Given the description of an element on the screen output the (x, y) to click on. 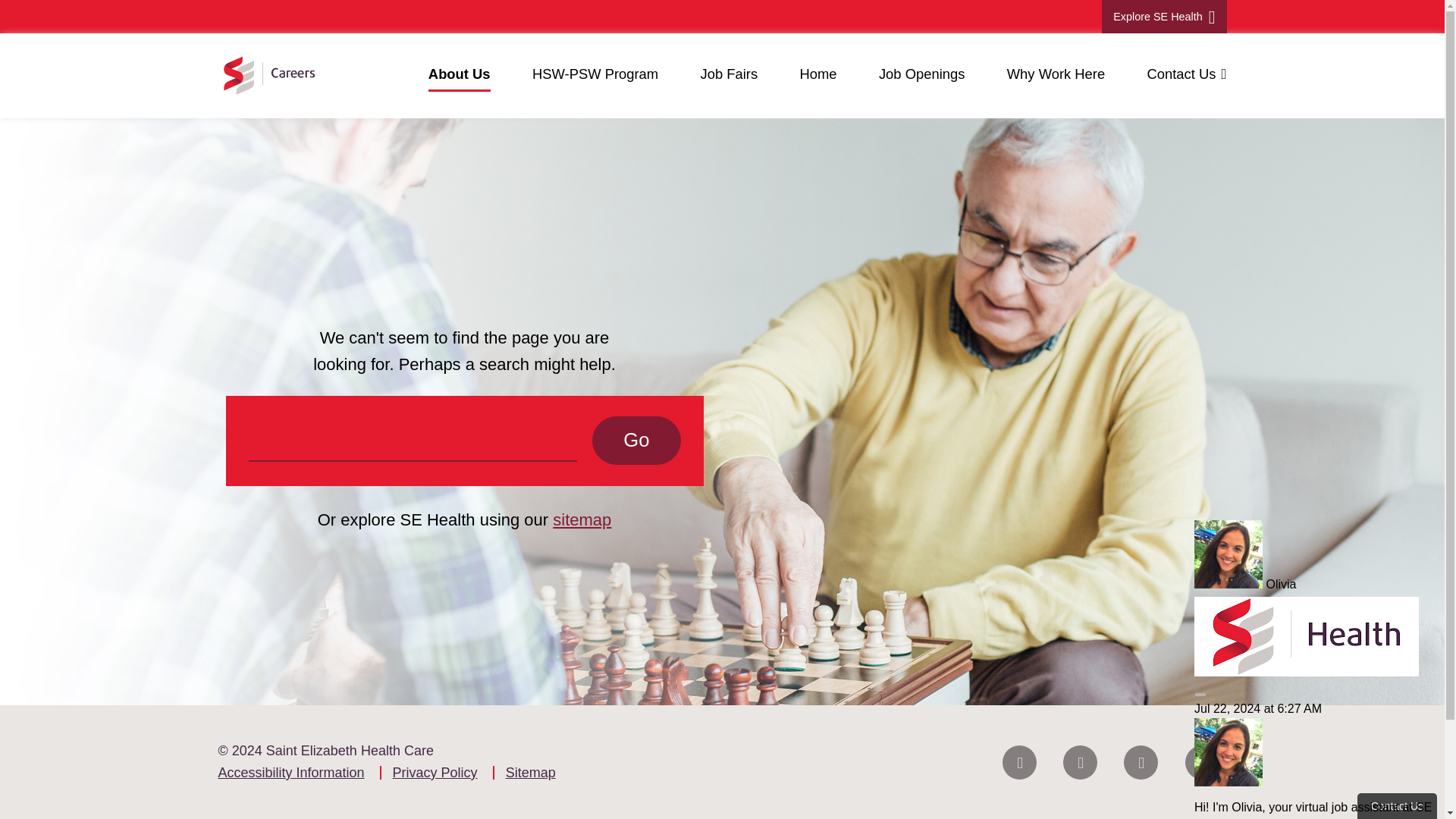
Saint Elizabeth on Facebook (1019, 761)
Saint Elizabeth on YouTube (1201, 761)
Home page for Careers (266, 75)
Saint Elizabeth on Twitter (1079, 761)
Saint Elizabeth on LinkedIn (1140, 761)
Go (635, 440)
